Given the description of an element on the screen output the (x, y) to click on. 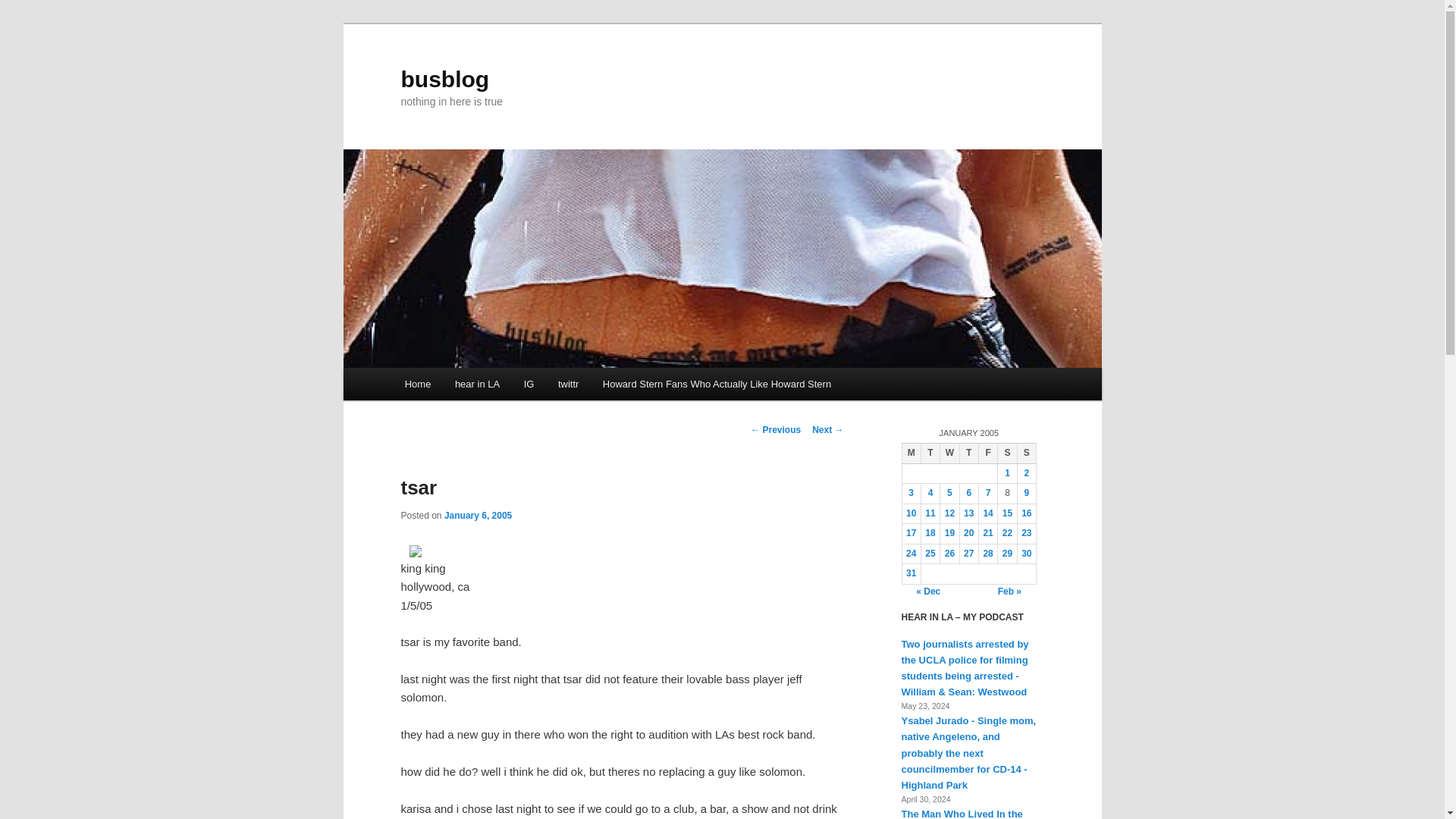
Monday (910, 453)
January 6, 2005 (478, 515)
hear in LA (477, 383)
Tuesday (929, 453)
Wednesday (949, 453)
busblog (444, 78)
13 (968, 512)
Saturday (1006, 453)
14 (987, 512)
17 (910, 532)
15 (1007, 512)
16 (1026, 512)
18 (929, 532)
Sunday (1025, 453)
